Given the description of an element on the screen output the (x, y) to click on. 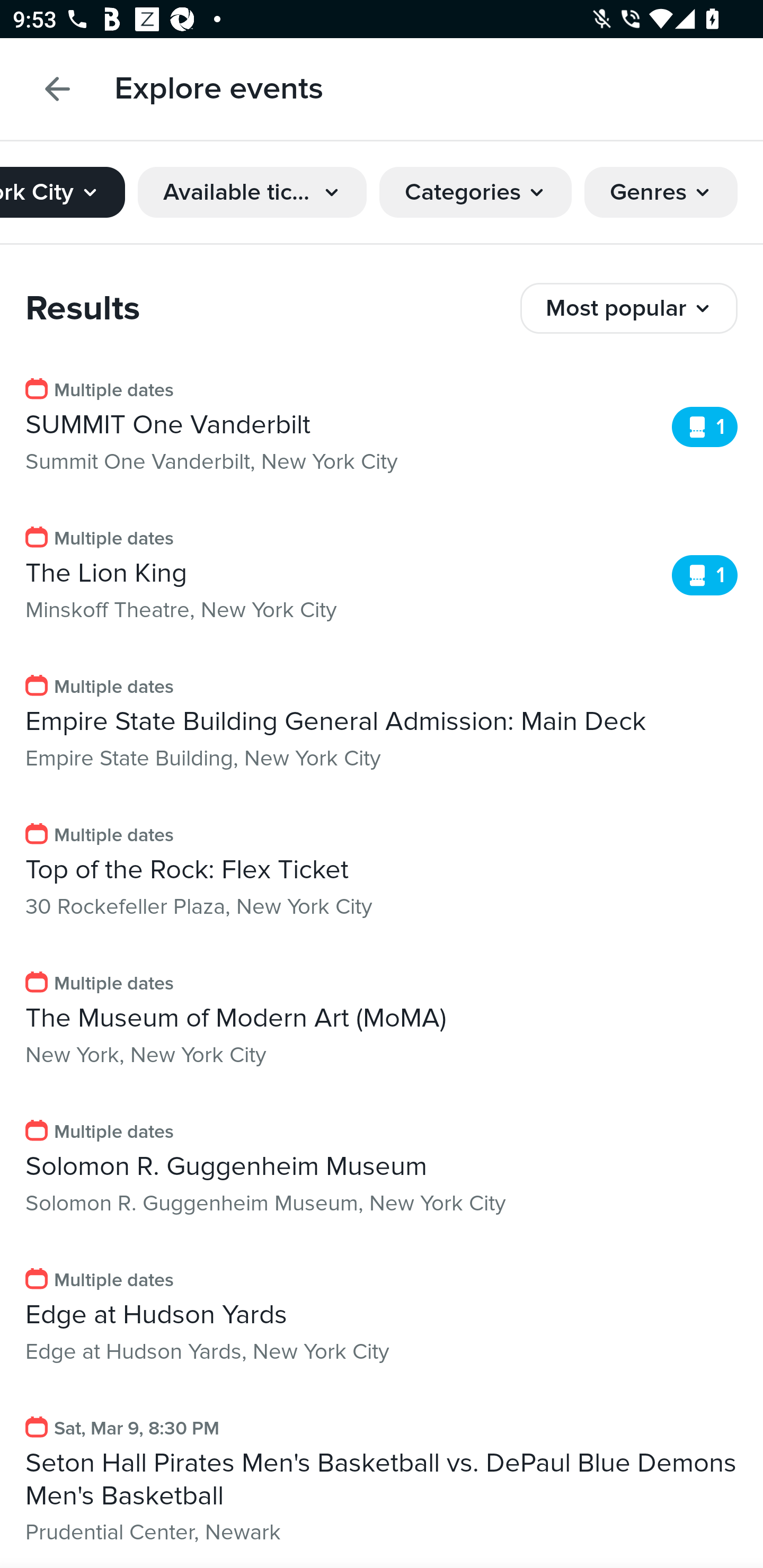
Available tickets (252, 191)
Categories (475, 191)
Genres (660, 191)
Most popular (628, 307)
